Given the description of an element on the screen output the (x, y) to click on. 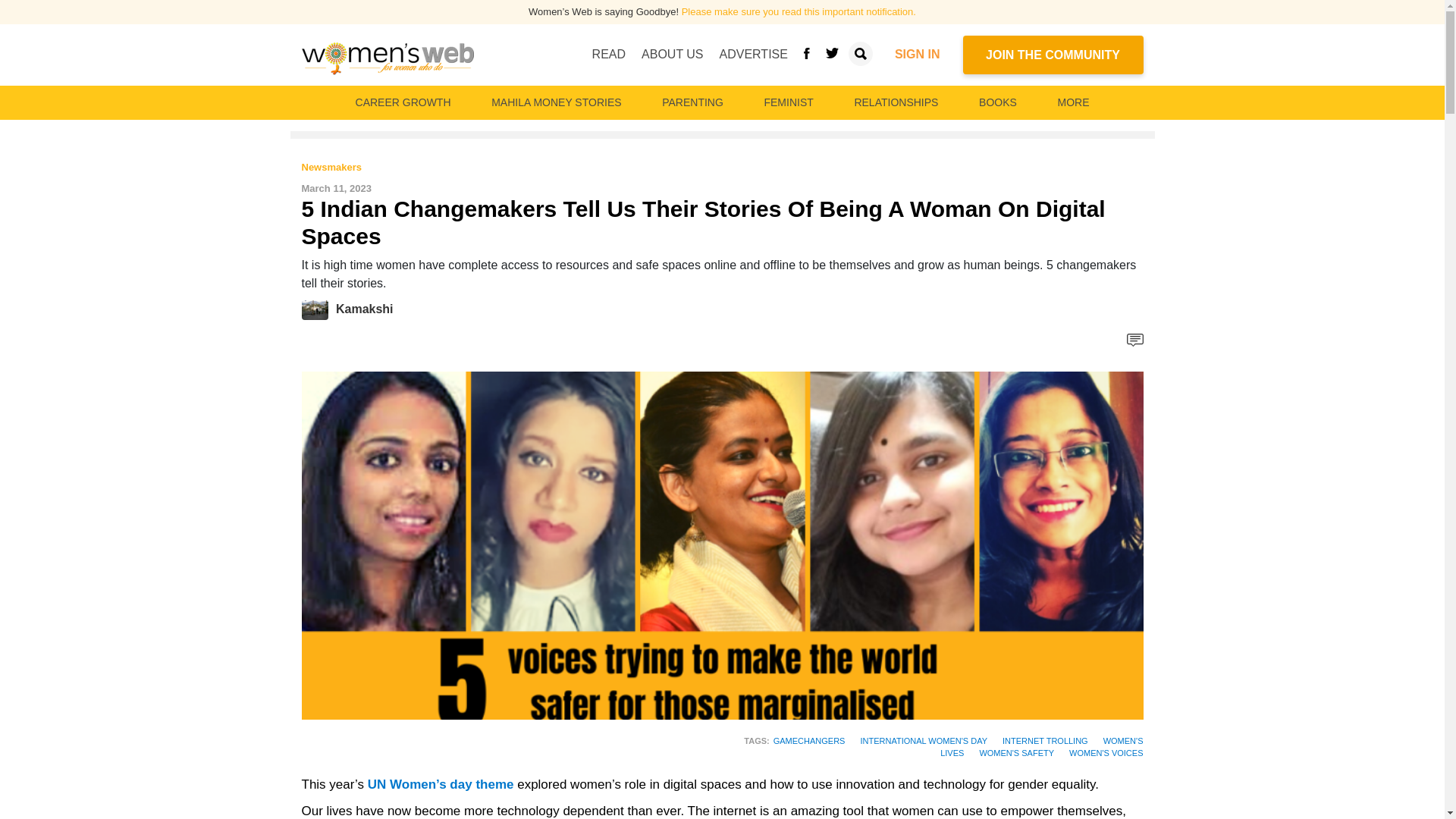
MAHILA MONEY STORIES (555, 102)
CAREER GROWTH (402, 102)
Please make sure you read this important notification. (798, 11)
Kamakshi (318, 309)
Kamakshi (364, 309)
BOOKS (998, 102)
ADVERTISE (753, 54)
ABOUT US (672, 54)
PARENTING (691, 102)
RELATIONSHIPS (894, 102)
READ (608, 54)
MORE (1072, 102)
FEMINIST (788, 102)
